Given the description of an element on the screen output the (x, y) to click on. 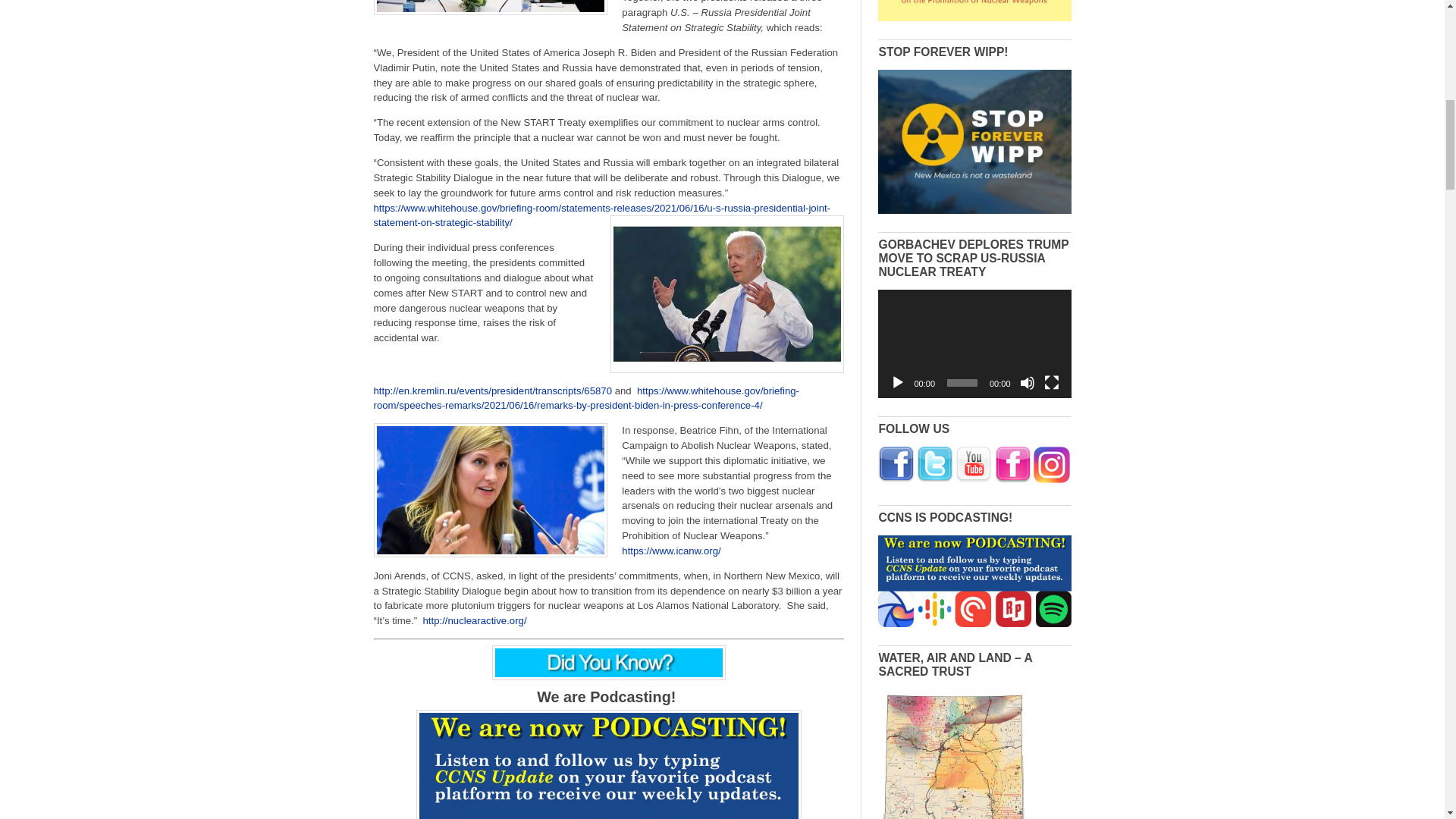
Fullscreen (1050, 382)
Mute (1026, 382)
Play (897, 382)
